Given the description of an element on the screen output the (x, y) to click on. 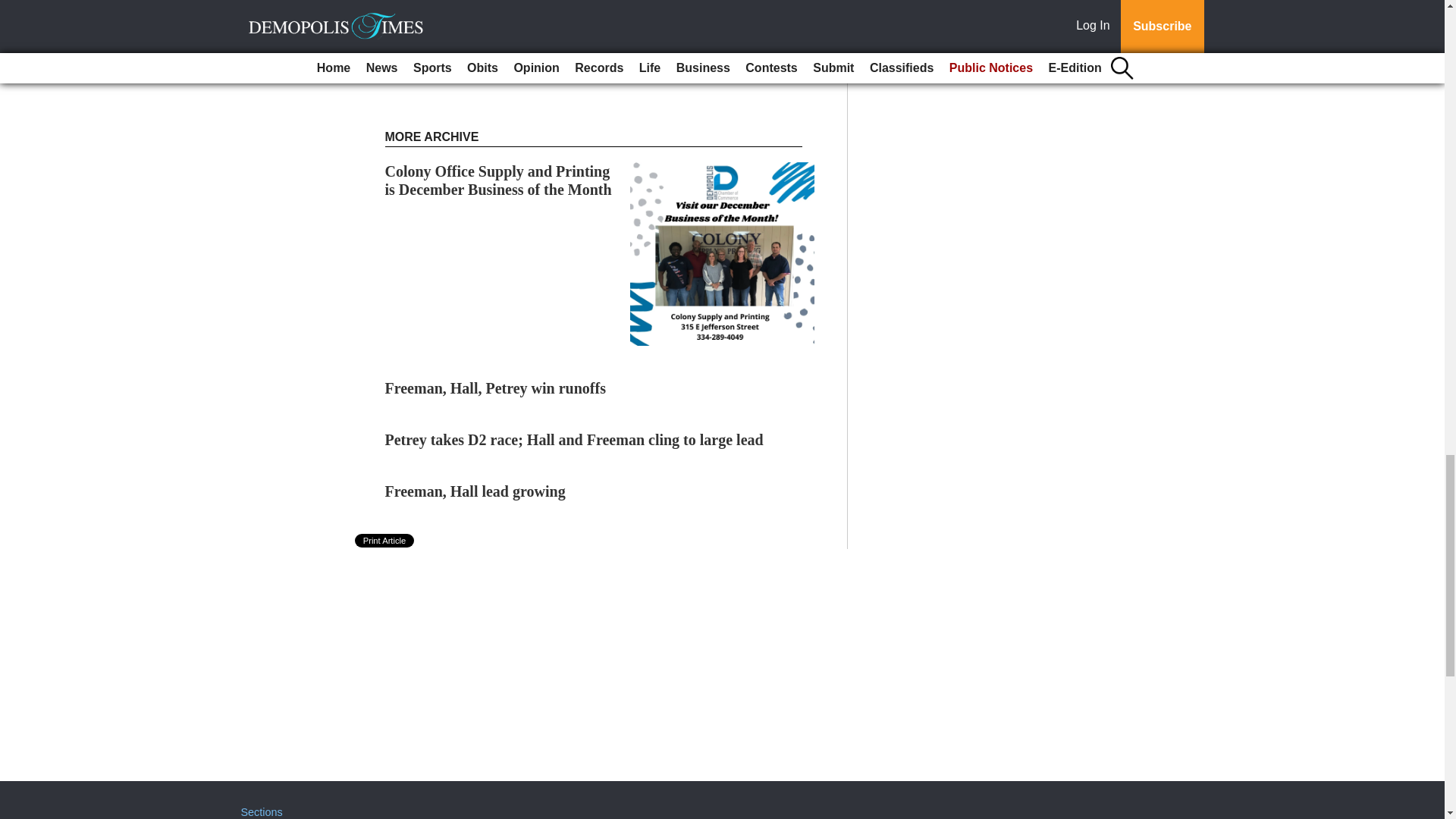
Print Article (384, 540)
Freeman, Hall lead growing (475, 491)
Freeman, Hall lead growing (475, 491)
Freeman, Hall, Petrey win runoffs (495, 388)
Petrey takes D2 race; Hall and Freeman cling to large lead (573, 439)
Freeman, Hall, Petrey win runoffs (495, 388)
Petrey takes D2 race; Hall and Freeman cling to large lead (573, 439)
